Given the description of an element on the screen output the (x, y) to click on. 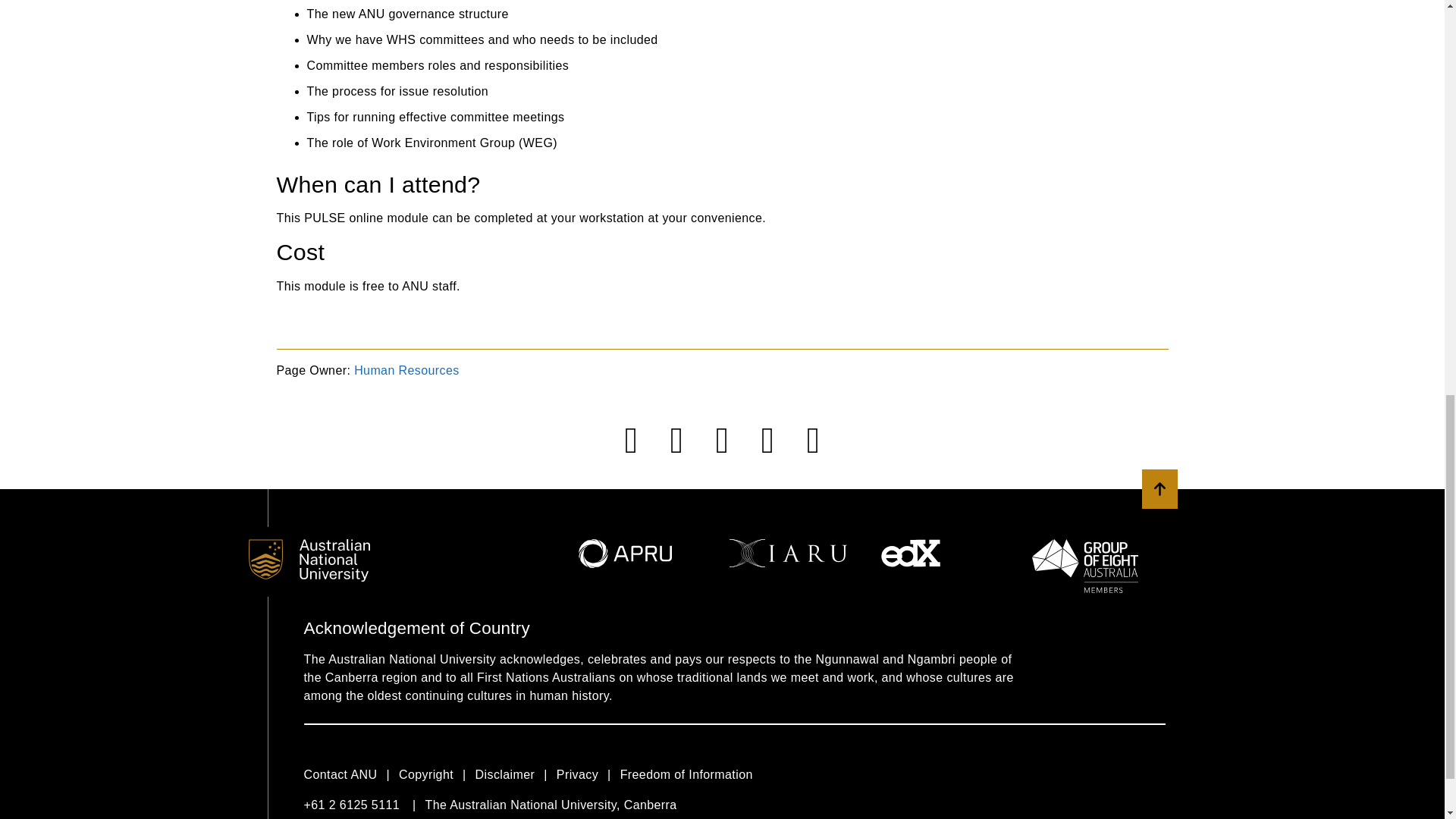
Human Resources (406, 369)
Back to top (1159, 488)
Contact ANU (349, 774)
